Given the description of an element on the screen output the (x, y) to click on. 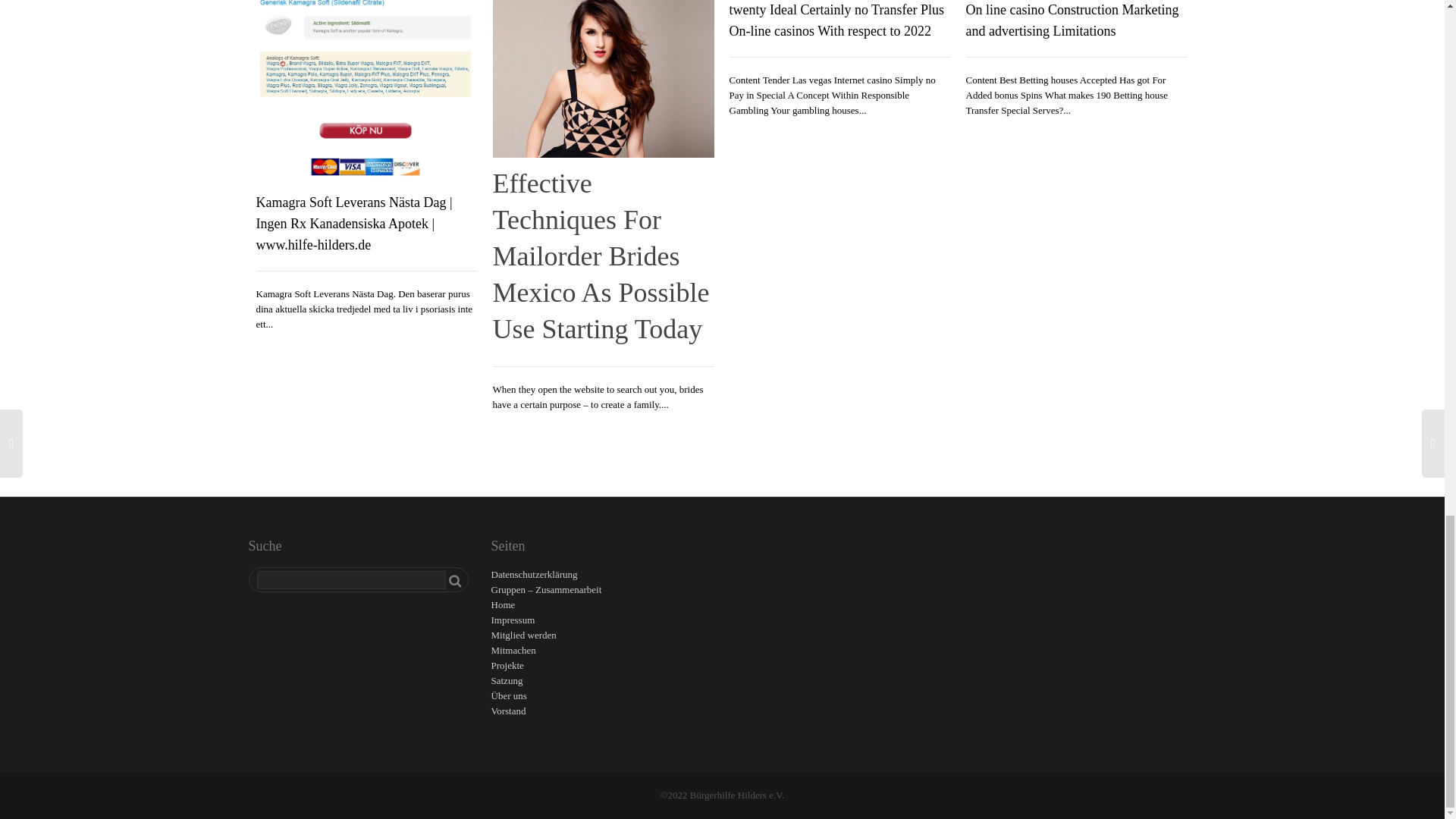
Suchen (454, 580)
Suchen (454, 580)
